Given the description of an element on the screen output the (x, y) to click on. 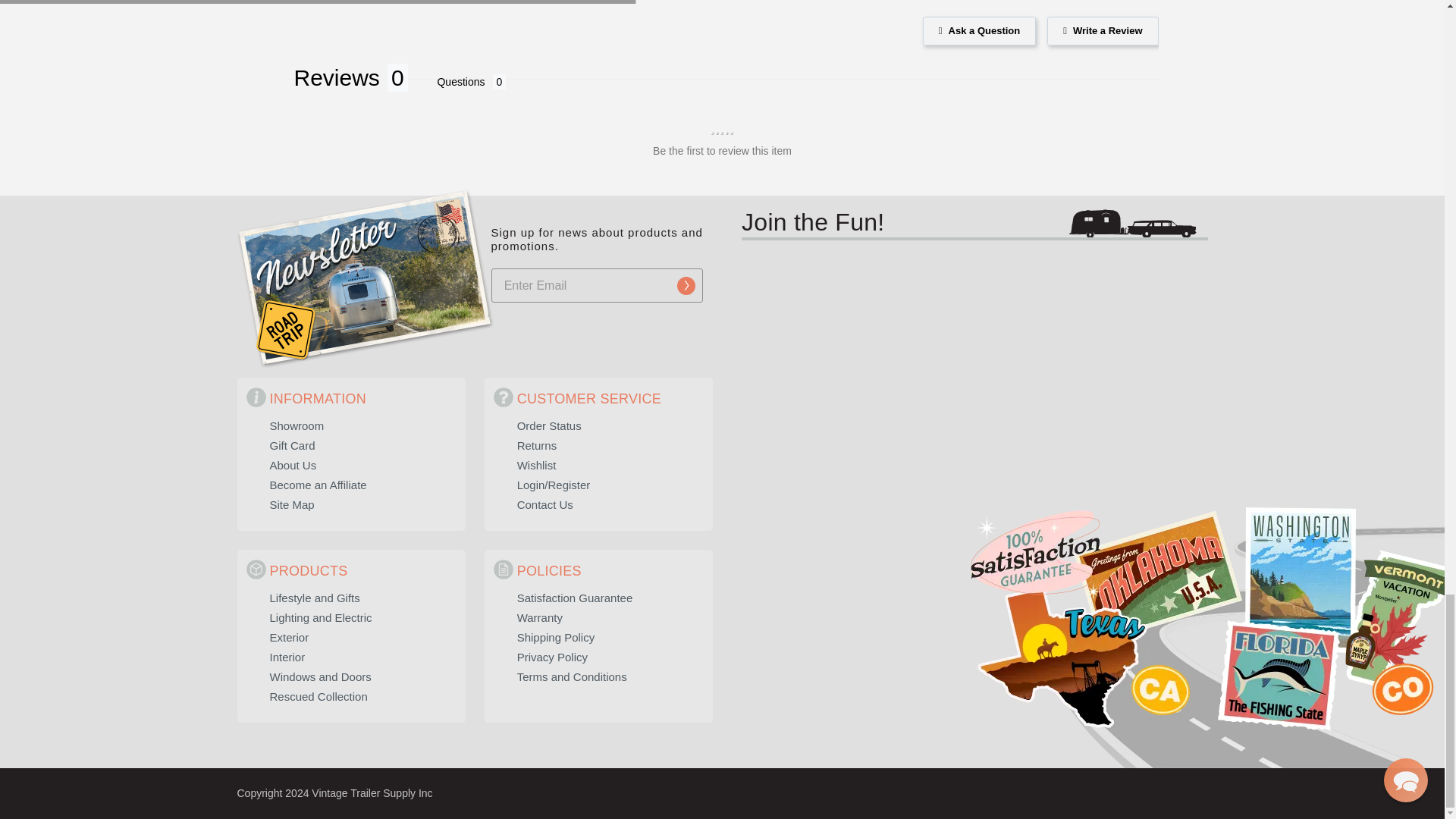
fb:page Facebook Social Plugin (1096, 376)
